Given the description of an element on the screen output the (x, y) to click on. 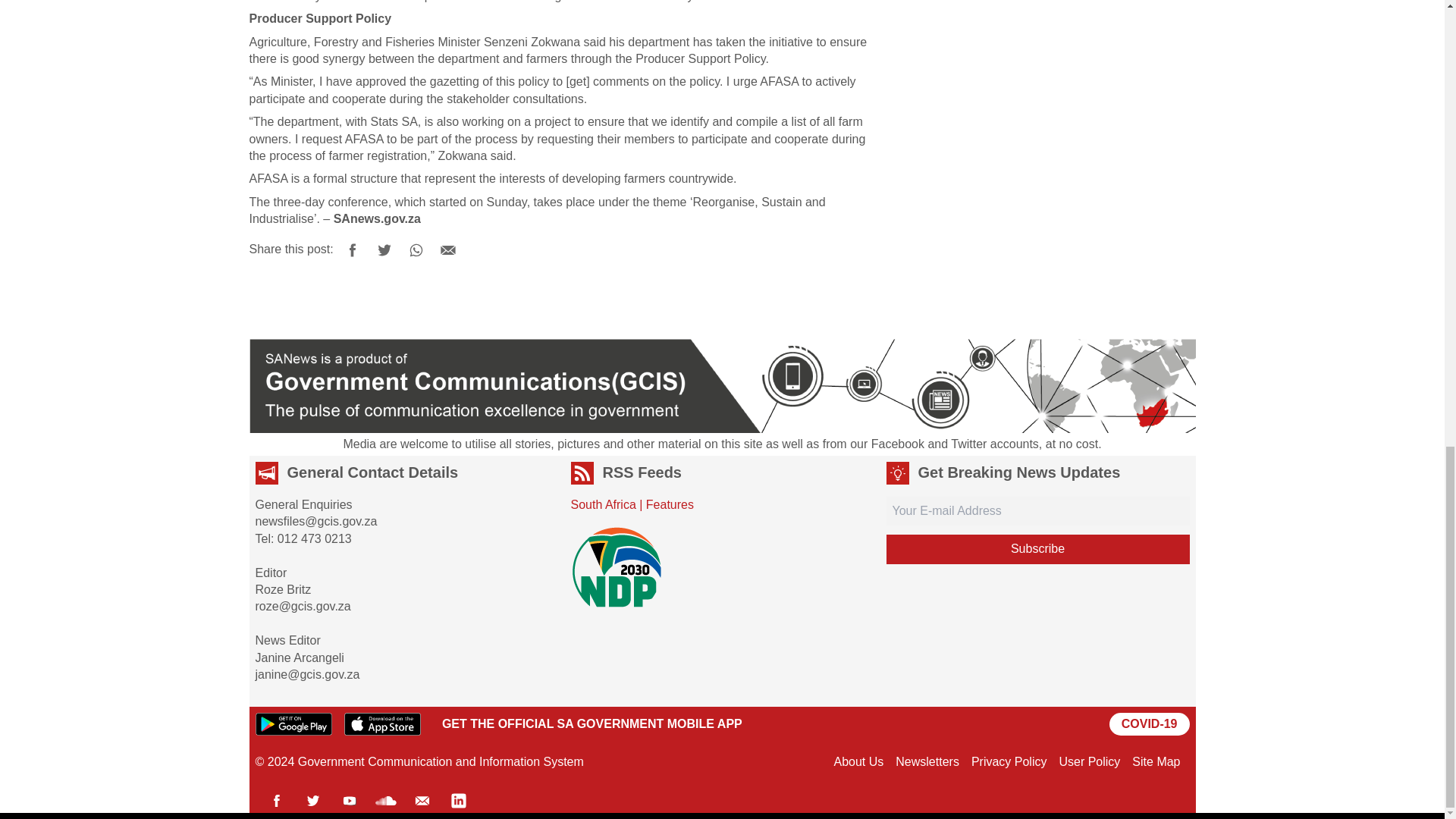
Subscribe (1037, 548)
COVID-19 (1149, 723)
Subscribe (1037, 548)
Share on Facebook (352, 250)
Share on Twitter (384, 250)
Share by Email (448, 250)
Features (670, 504)
Download from the Google Play Store (292, 723)
Share on WhatsApp (416, 250)
Download from the iTunes App Store (381, 723)
South Africa (602, 504)
